Given the description of an element on the screen output the (x, y) to click on. 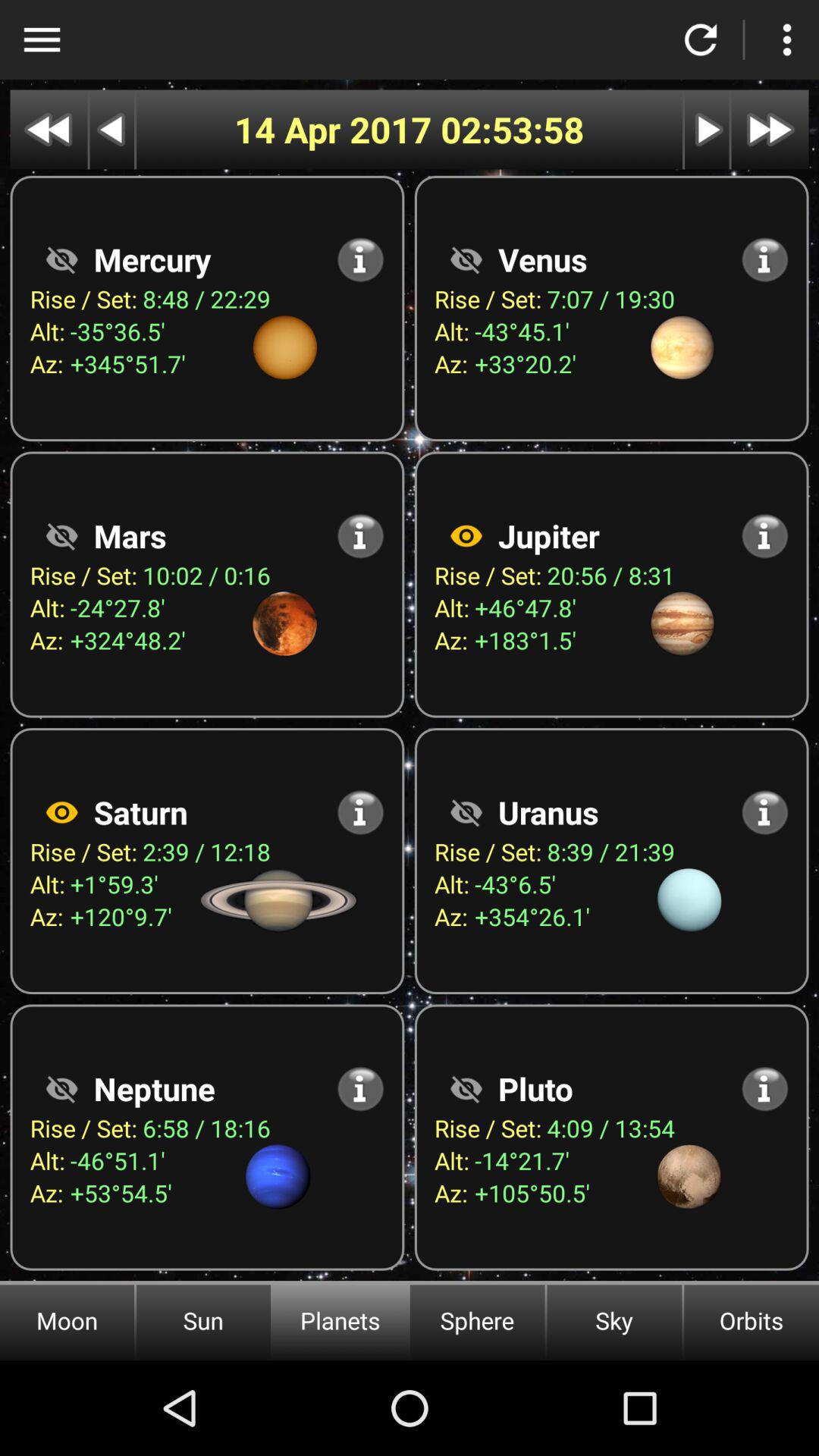
toggle visibility (466, 812)
